Given the description of an element on the screen output the (x, y) to click on. 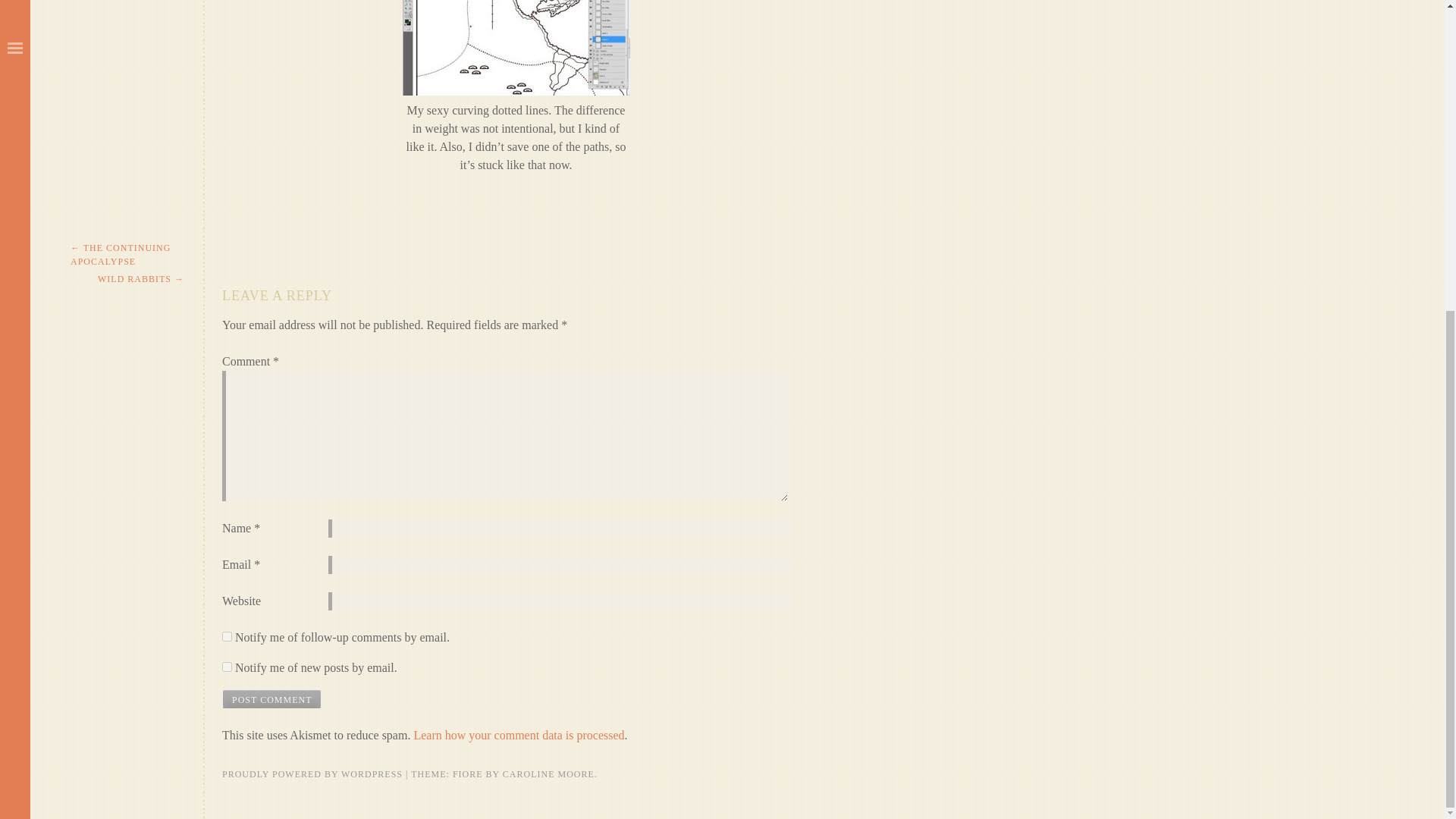
CAROLINE MOORE (548, 774)
subscribe (226, 636)
PROUDLY POWERED BY WORDPRESS (312, 774)
A Semantic Personal Publishing Platform (312, 774)
Post Comment (271, 698)
Post Comment (271, 698)
subscribe (226, 666)
Learn how your comment data is processed (518, 735)
